Given the description of an element on the screen output the (x, y) to click on. 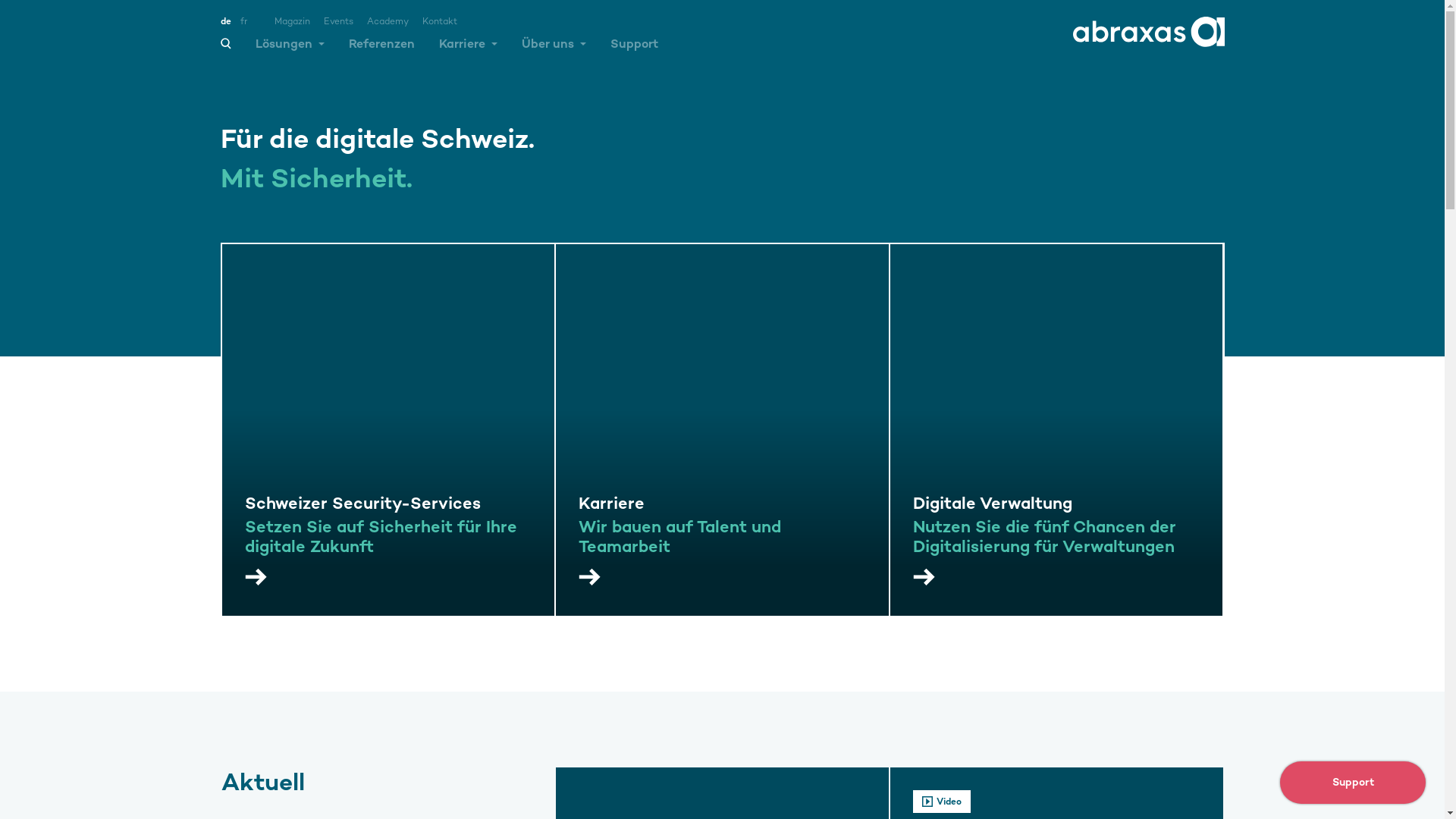
Magazin Element type: text (292, 21)
de Element type: text (224, 21)
Karriere
Wir bauen auf Talent und Teamarbeit Element type: text (721, 429)
Kontakt Element type: text (438, 21)
Events Element type: text (337, 21)
fr Element type: text (242, 21)
Academy Element type: text (387, 21)
Referenzen Element type: text (381, 50)
Support Element type: text (1352, 782)
Karriere Element type: text (467, 50)
Support Element type: text (633, 50)
